Given the description of an element on the screen output the (x, y) to click on. 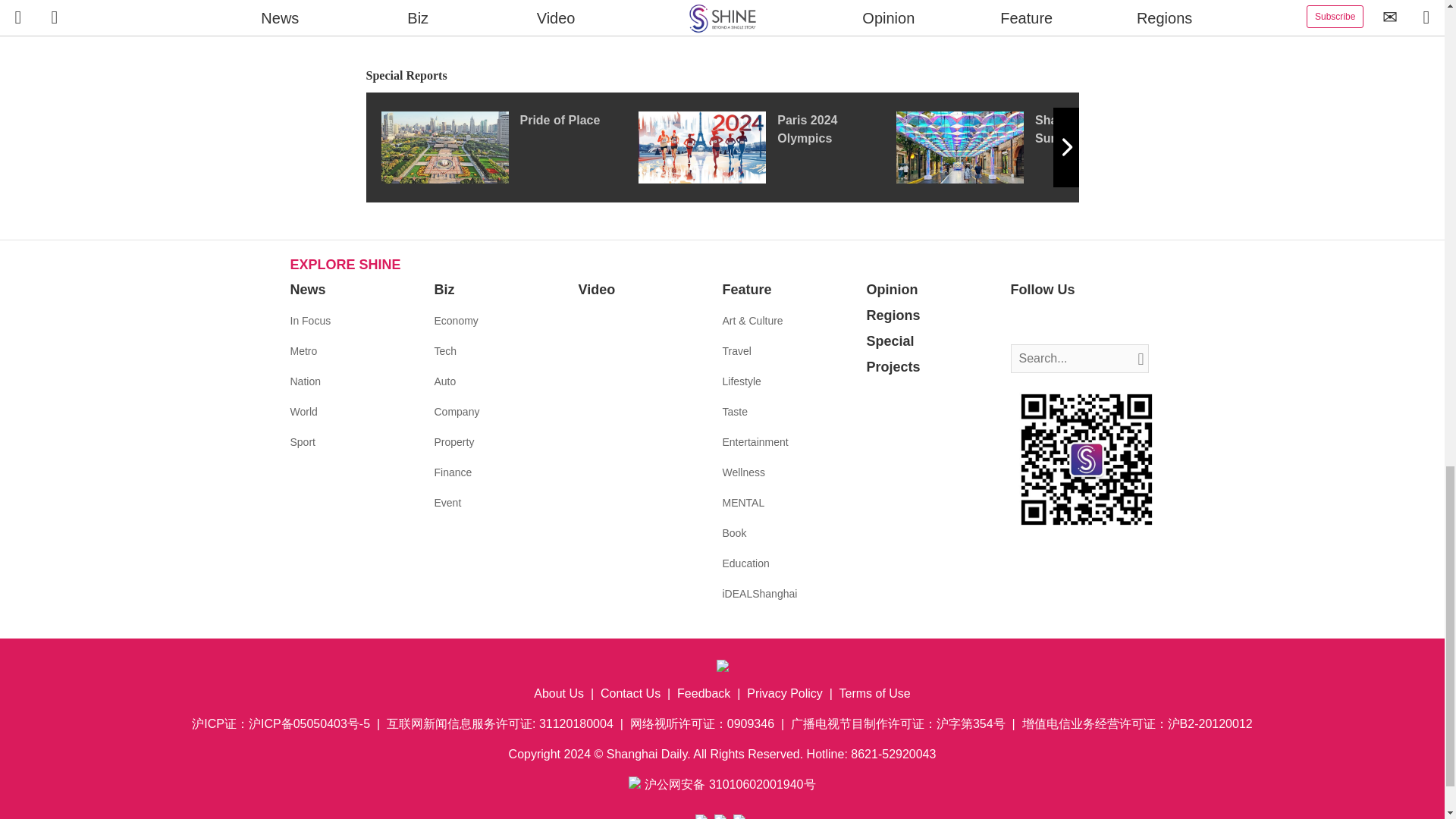
Metro (303, 350)
Shanghai Summer (1024, 146)
World (303, 411)
Paris 2024 Olympics (767, 146)
Pride of Place (508, 146)
In Focus (309, 320)
Follow us on Youtube (1090, 321)
Follow us on Wechat (1112, 321)
Follow us on Facebook (1021, 321)
News (306, 289)
Follow us on Twitter (1044, 321)
Nation (304, 381)
Follow us on Instagram (1067, 321)
Special Reports (721, 76)
